Given the description of an element on the screen output the (x, y) to click on. 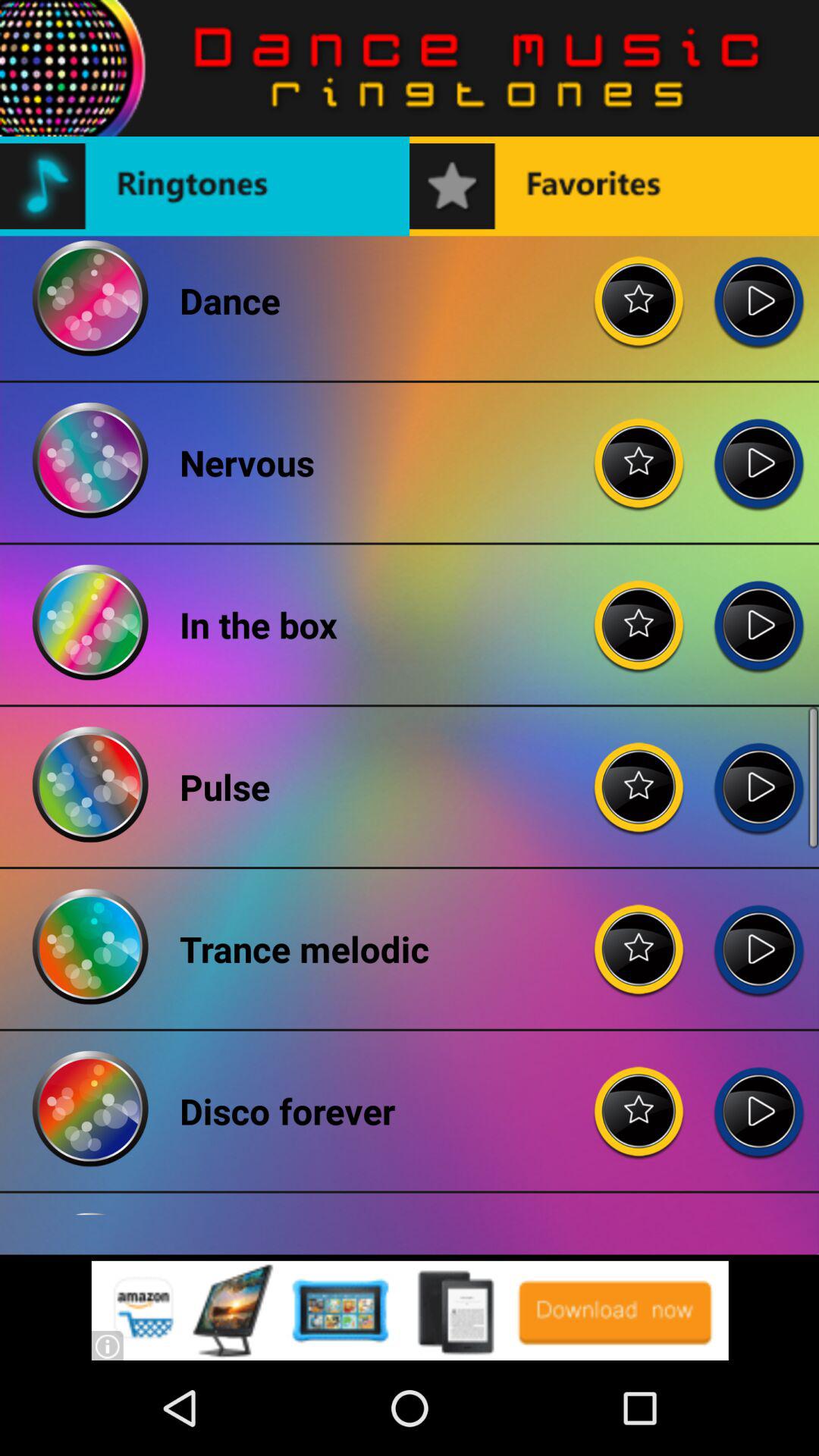
favorite (639, 613)
